Given the description of an element on the screen output the (x, y) to click on. 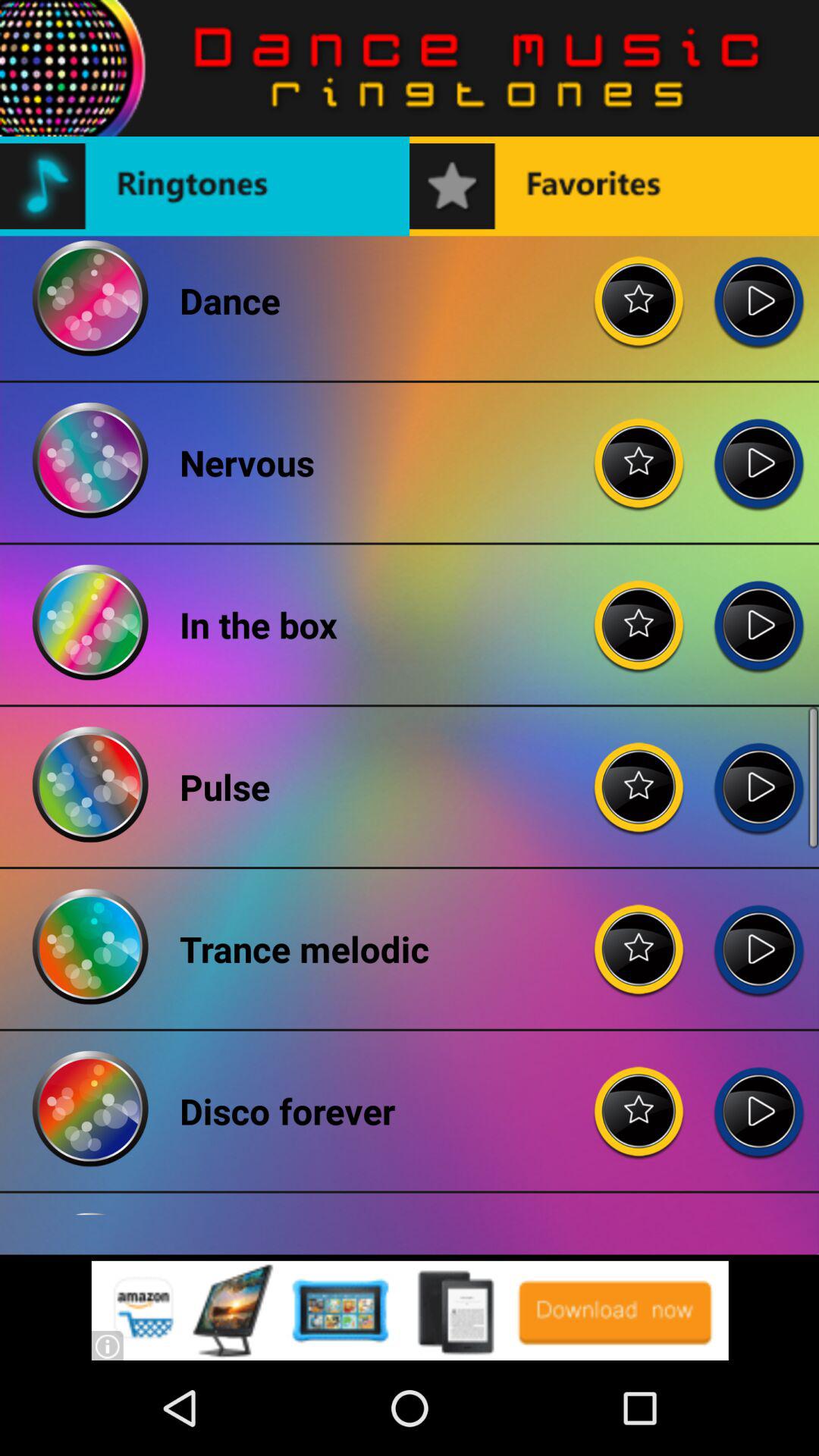
favorite (639, 613)
